Given the description of an element on the screen output the (x, y) to click on. 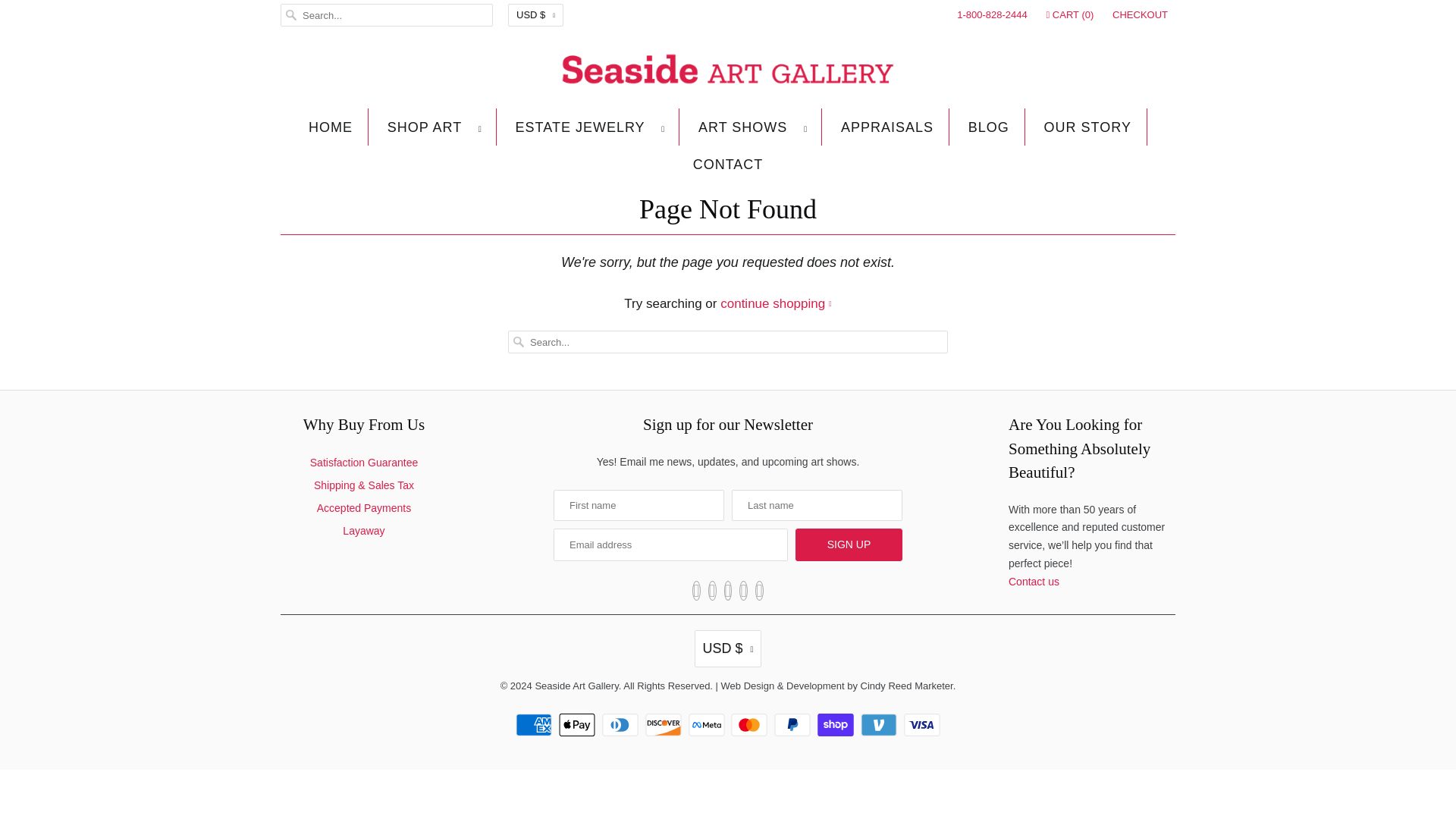
PayPal (793, 724)
Shop Pay (836, 724)
Contact (1034, 581)
American Express (535, 724)
Meta Pay (708, 724)
Diners Club (622, 724)
Venmo (880, 724)
Discover (665, 724)
Seaside Art Gallery (727, 73)
Visa (922, 724)
Apple Pay (578, 724)
Mastercard (750, 724)
Sign Up (848, 544)
